Given the description of an element on the screen output the (x, y) to click on. 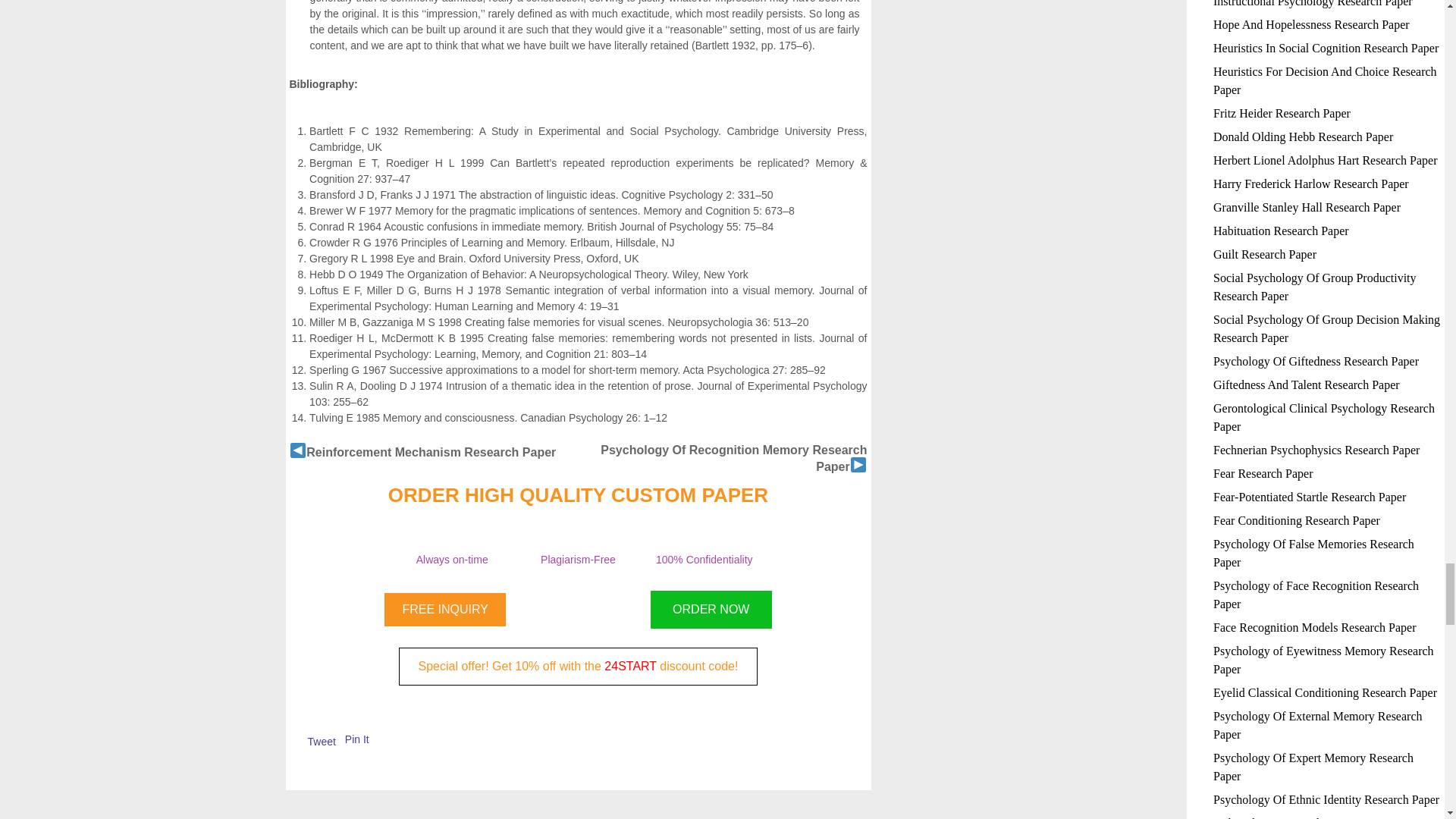
Reinforcement Mechanism Research Paper (430, 451)
FREE INQUIRY (444, 609)
Psychology Of Recognition Memory Research Paper (732, 458)
Reinforcement Mechanism Research Paper (430, 451)
ORDER NOW (710, 609)
Pin It (357, 739)
Psychology Of Recognition Memory Research Paper (732, 458)
Tweet (321, 741)
